Given the description of an element on the screen output the (x, y) to click on. 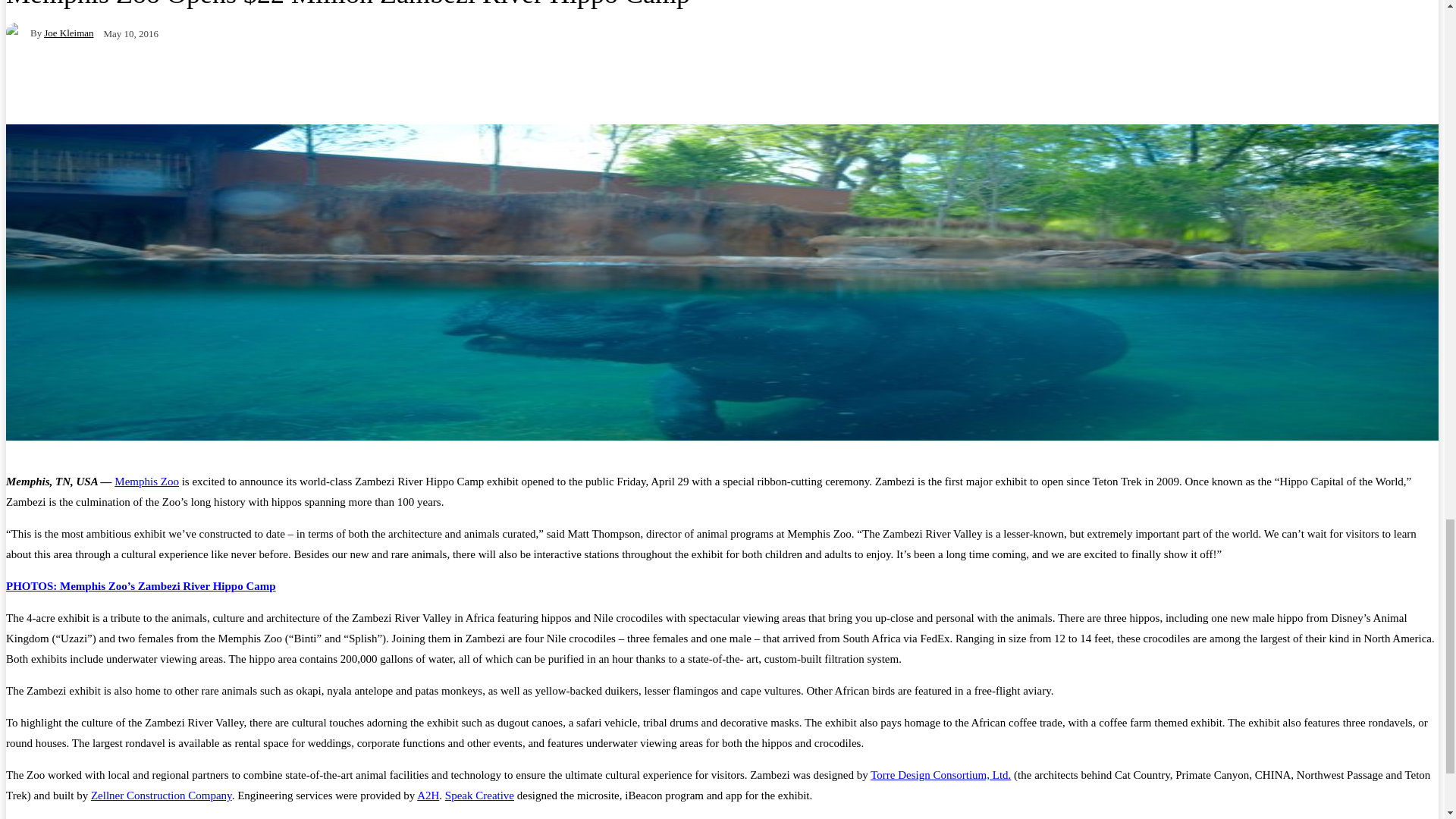
Joe Kleiman (17, 32)
